Given the description of an element on the screen output the (x, y) to click on. 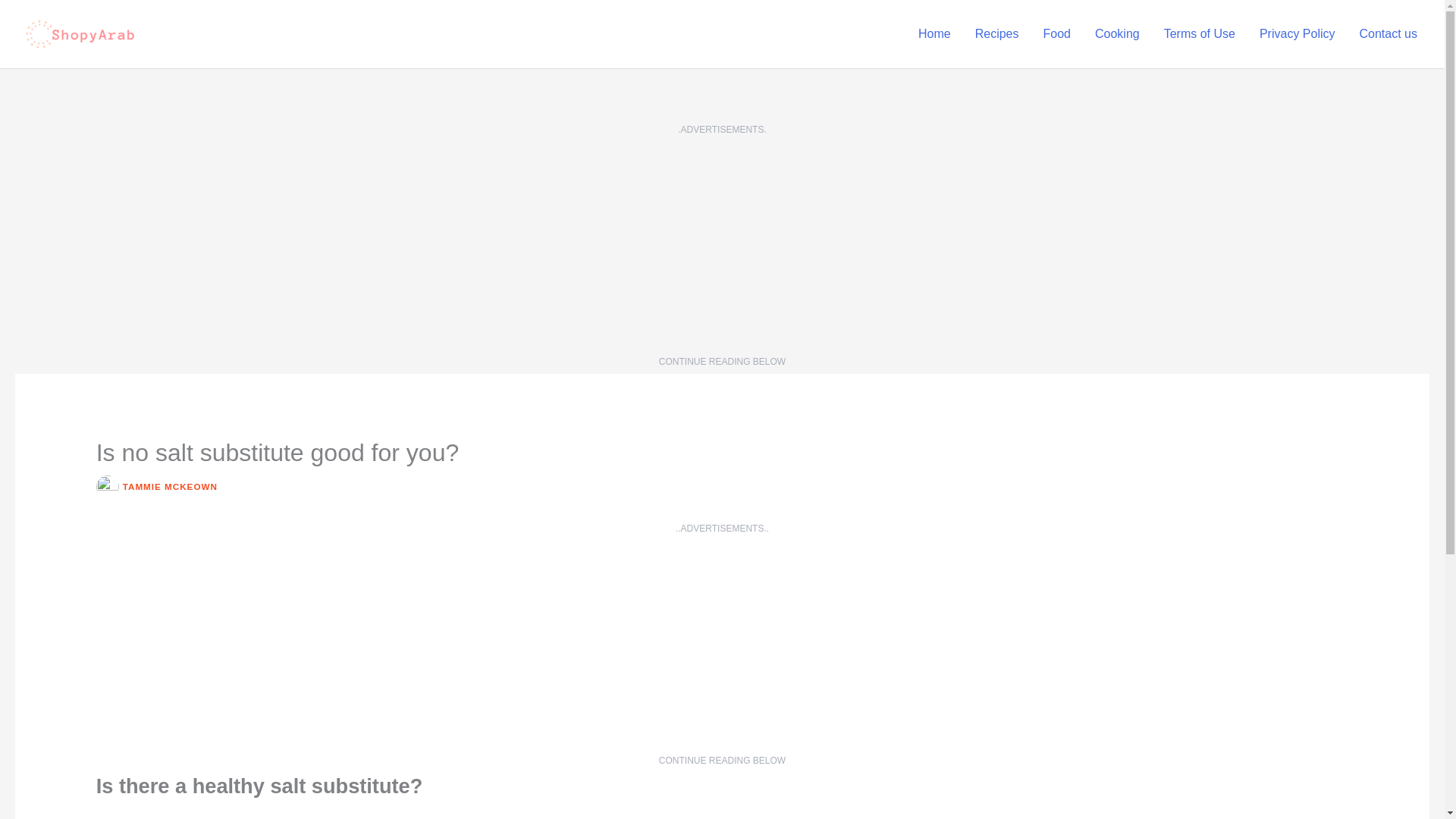
Contact us (1388, 33)
Home (933, 33)
Privacy Policy (1297, 33)
Advertisement (721, 644)
Food (1056, 33)
Terms of Use (1199, 33)
Cooking (1117, 33)
Recipes (996, 33)
